Given the description of an element on the screen output the (x, y) to click on. 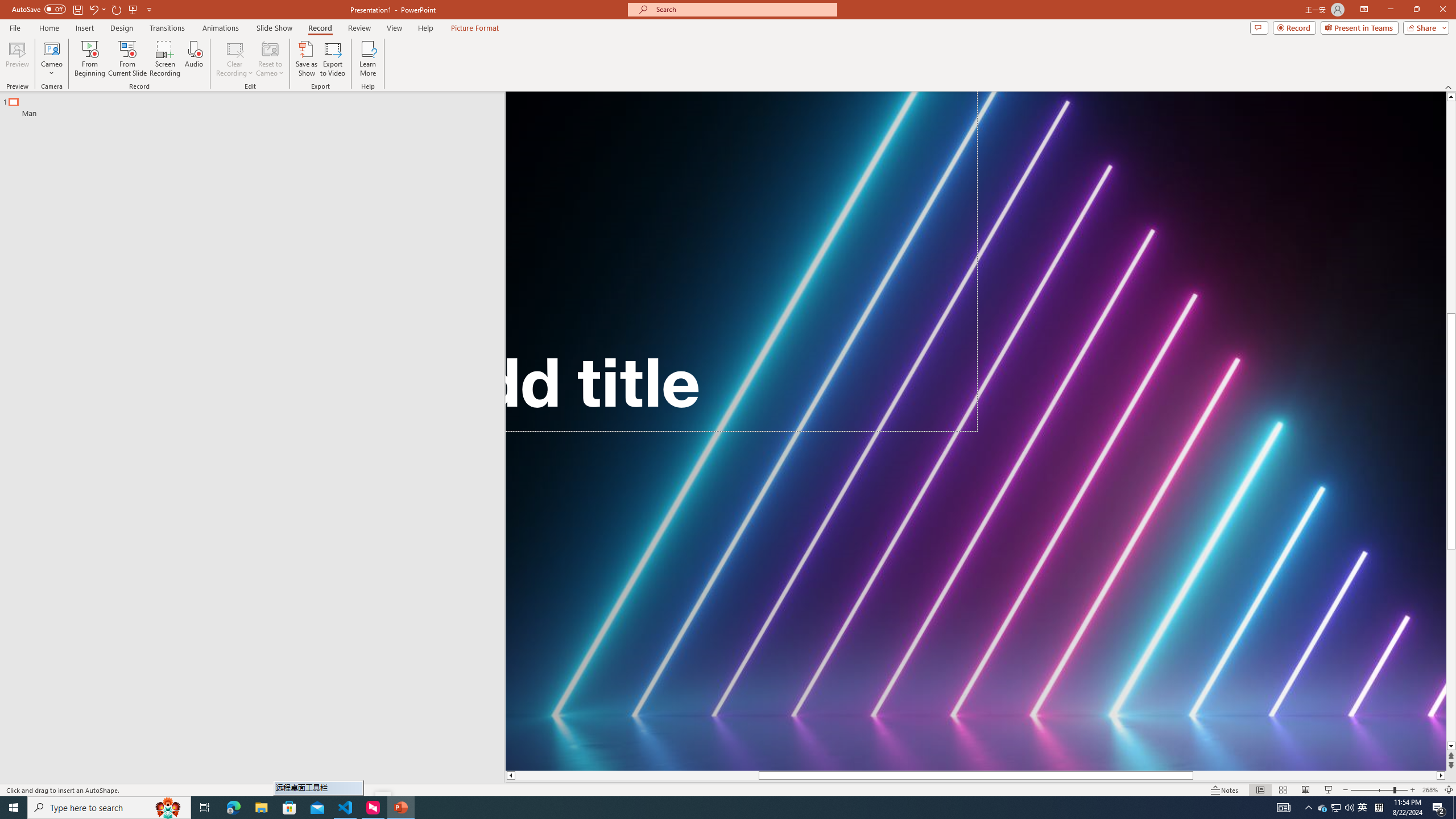
Screen Recording (165, 58)
Export to Video (332, 58)
Audio (193, 58)
